Given the description of an element on the screen output the (x, y) to click on. 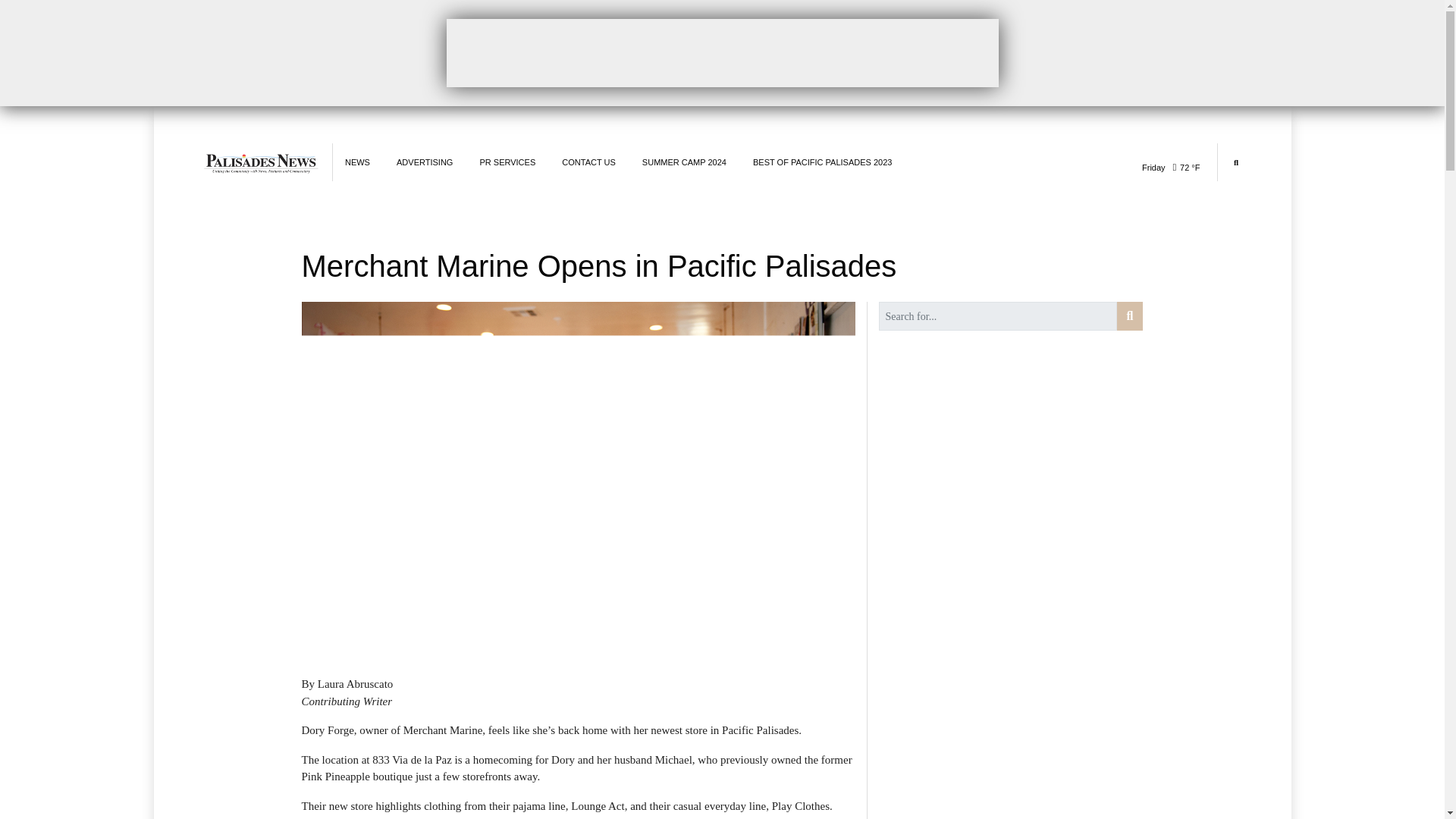
BEST OF PACIFIC PALISADES 2023 (821, 161)
3rd party ad content (721, 52)
SUMMER CAMP 2024 (684, 161)
ADVERTISING (424, 161)
PR SERVICES (507, 161)
Page 11 (578, 747)
CONTACT US (588, 161)
